Given the description of an element on the screen output the (x, y) to click on. 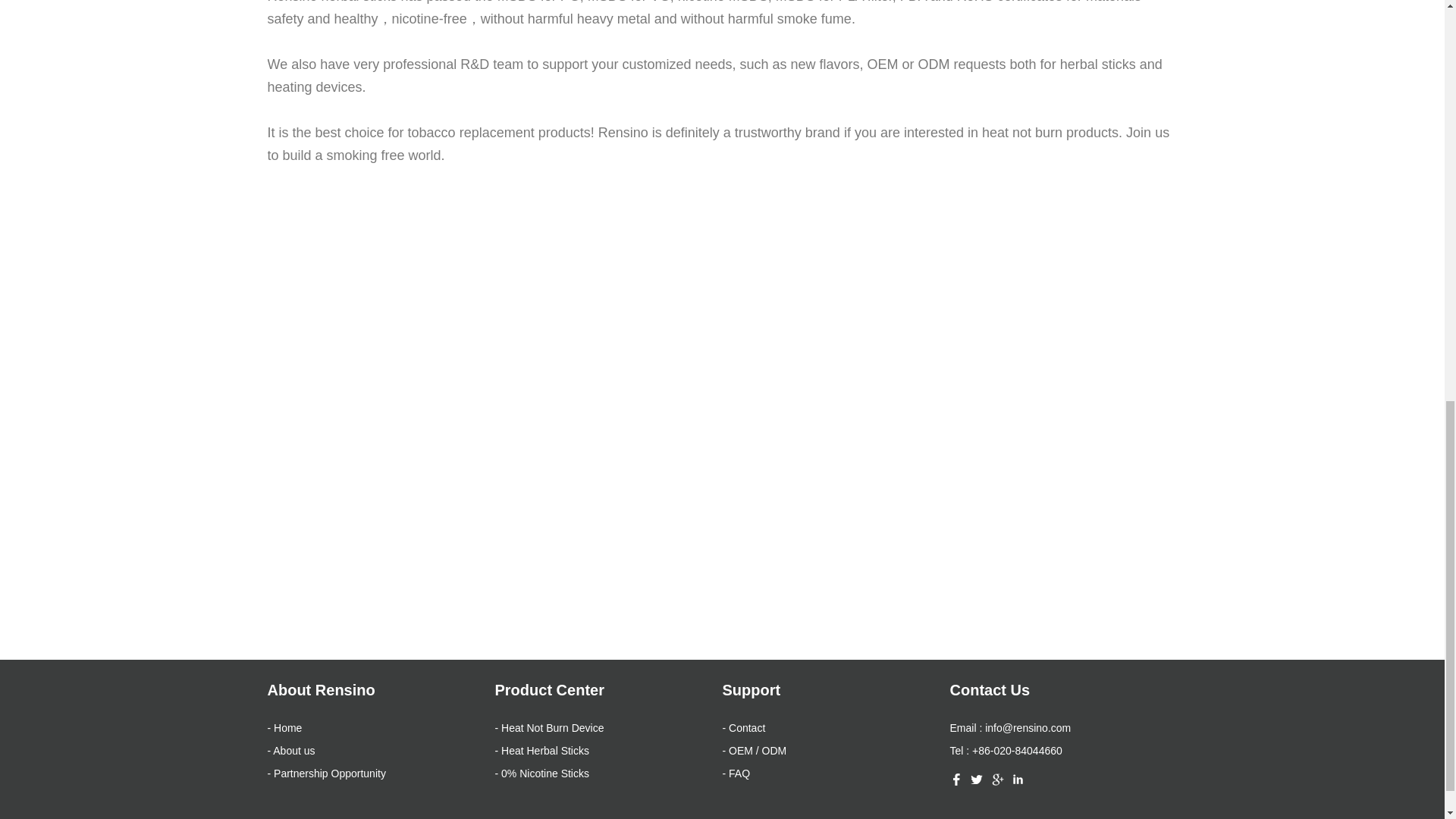
- Partnership Opportunity (325, 773)
- About us (290, 750)
- Home (283, 727)
- Heat Herbal Sticks (541, 750)
- FAQ (735, 773)
- Heat Not Burn Device (549, 727)
- Contact (743, 727)
